Given the description of an element on the screen output the (x, y) to click on. 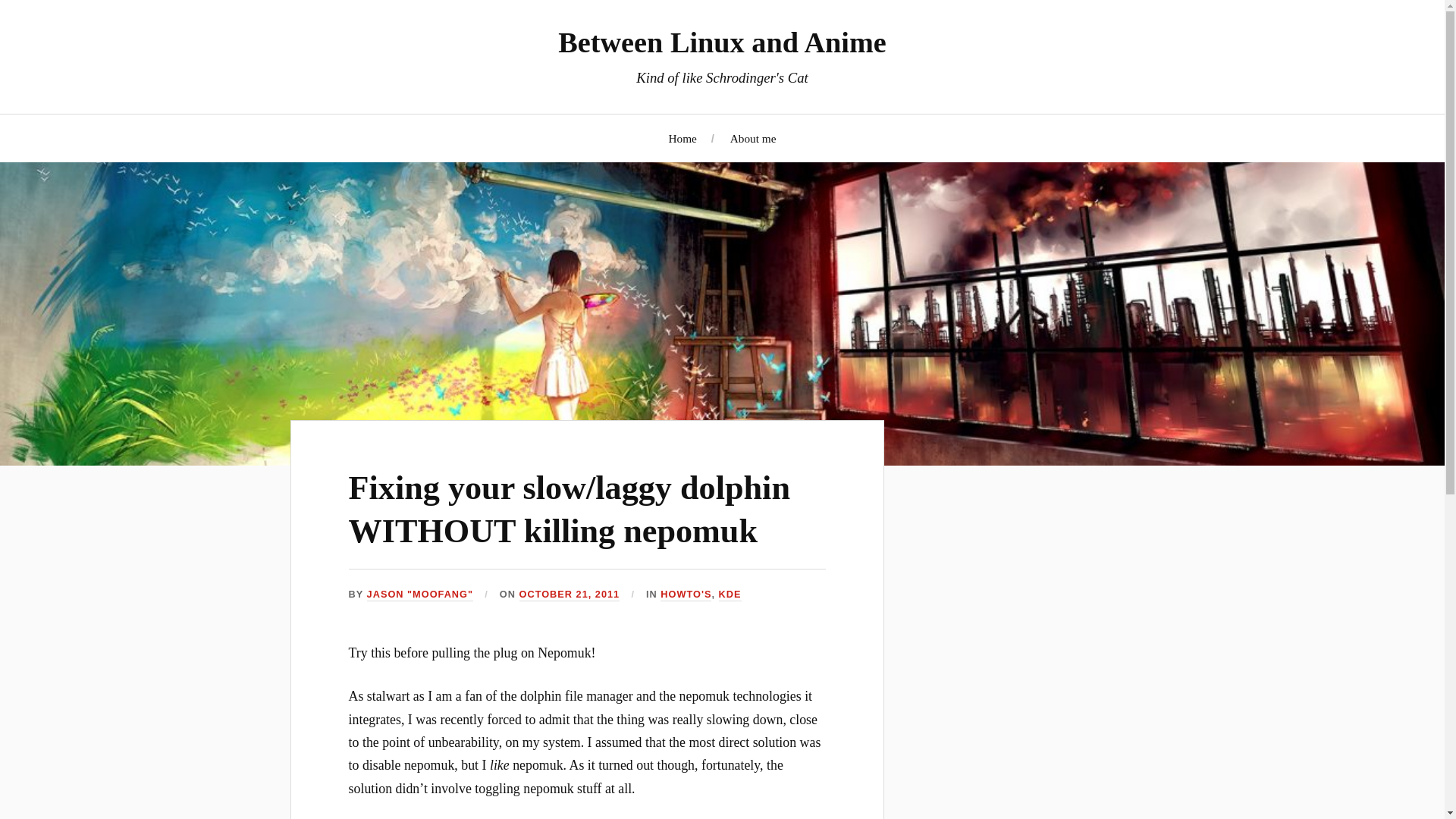
HOWTO'S (686, 594)
About me (753, 137)
OCTOBER 21, 2011 (569, 594)
JASON "MOOFANG" (419, 594)
KDE (730, 594)
Posts by Jason "moofang" (419, 594)
Between Linux and Anime (721, 42)
